Given the description of an element on the screen output the (x, y) to click on. 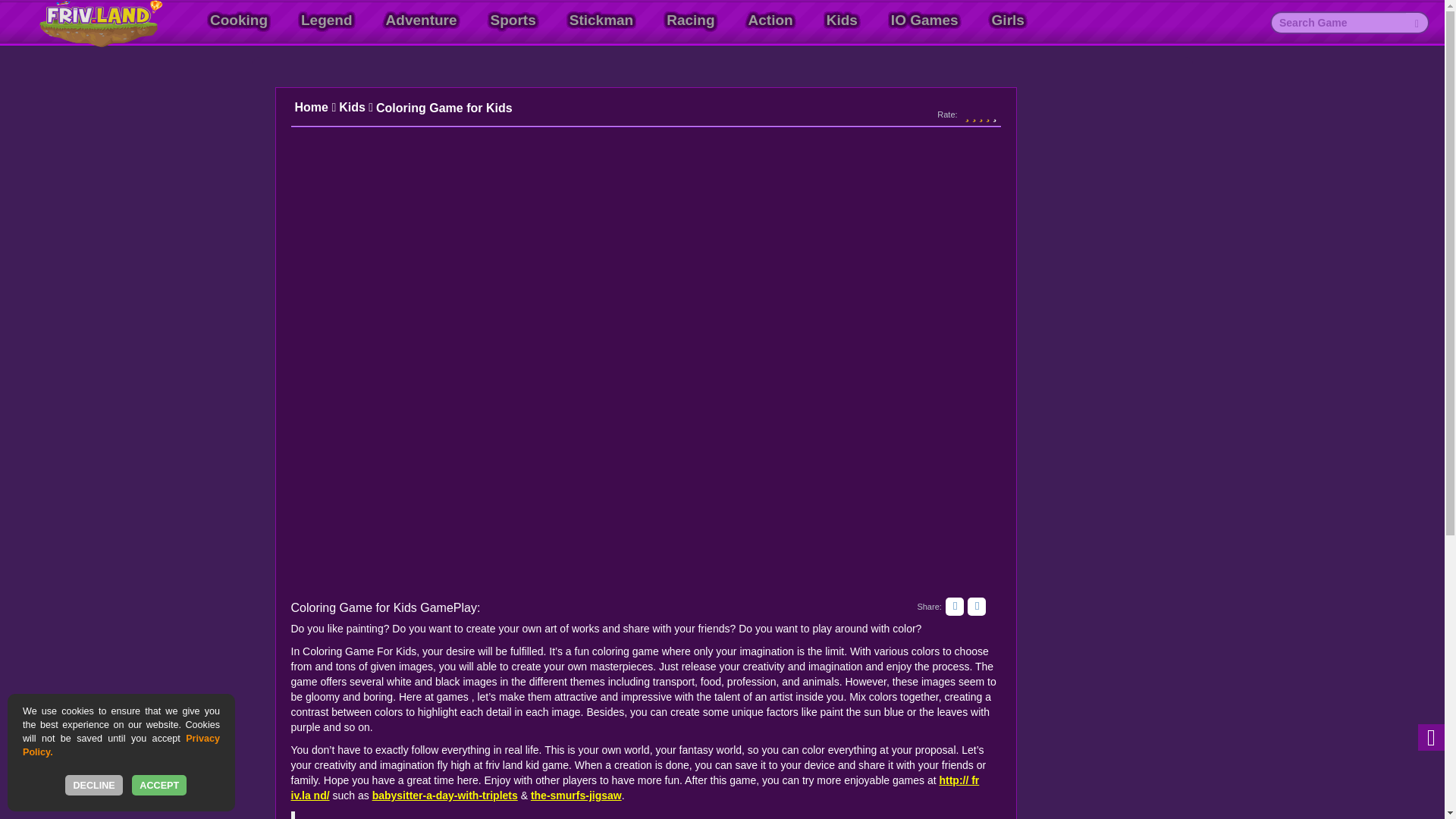
Action (770, 20)
Home (315, 108)
Racing (689, 20)
Racing (689, 20)
Kids (841, 20)
Cooking (238, 20)
Adventure (421, 20)
the-smurfs-jigsaw (576, 795)
Sports (512, 20)
Girls (1007, 20)
